Given the description of an element on the screen output the (x, y) to click on. 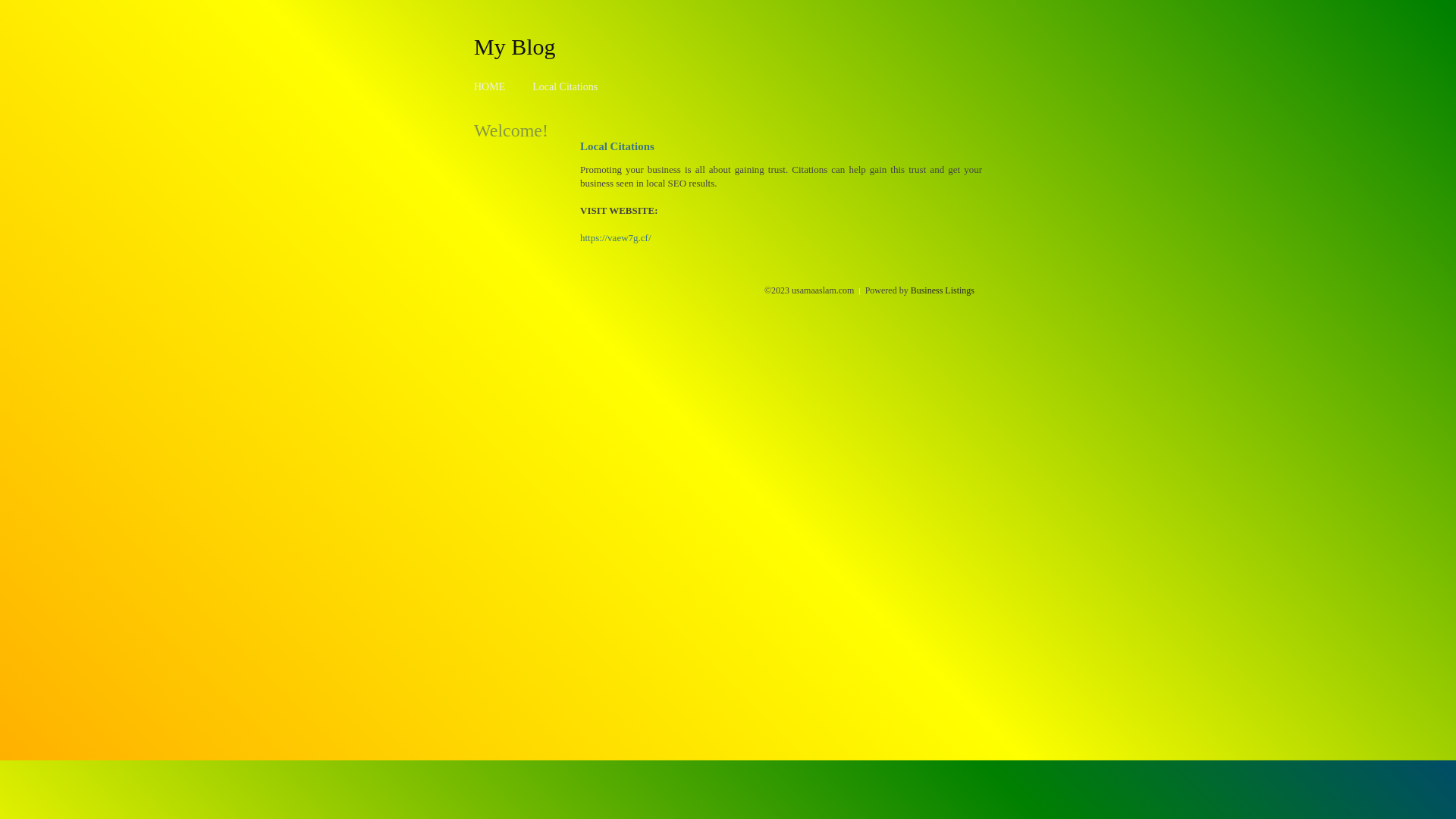
Local Citations Element type: text (564, 86)
HOME Element type: text (489, 86)
My Blog Element type: text (514, 46)
https://vaew7g.cf/ Element type: text (615, 237)
Business Listings Element type: text (942, 290)
